Given the description of an element on the screen output the (x, y) to click on. 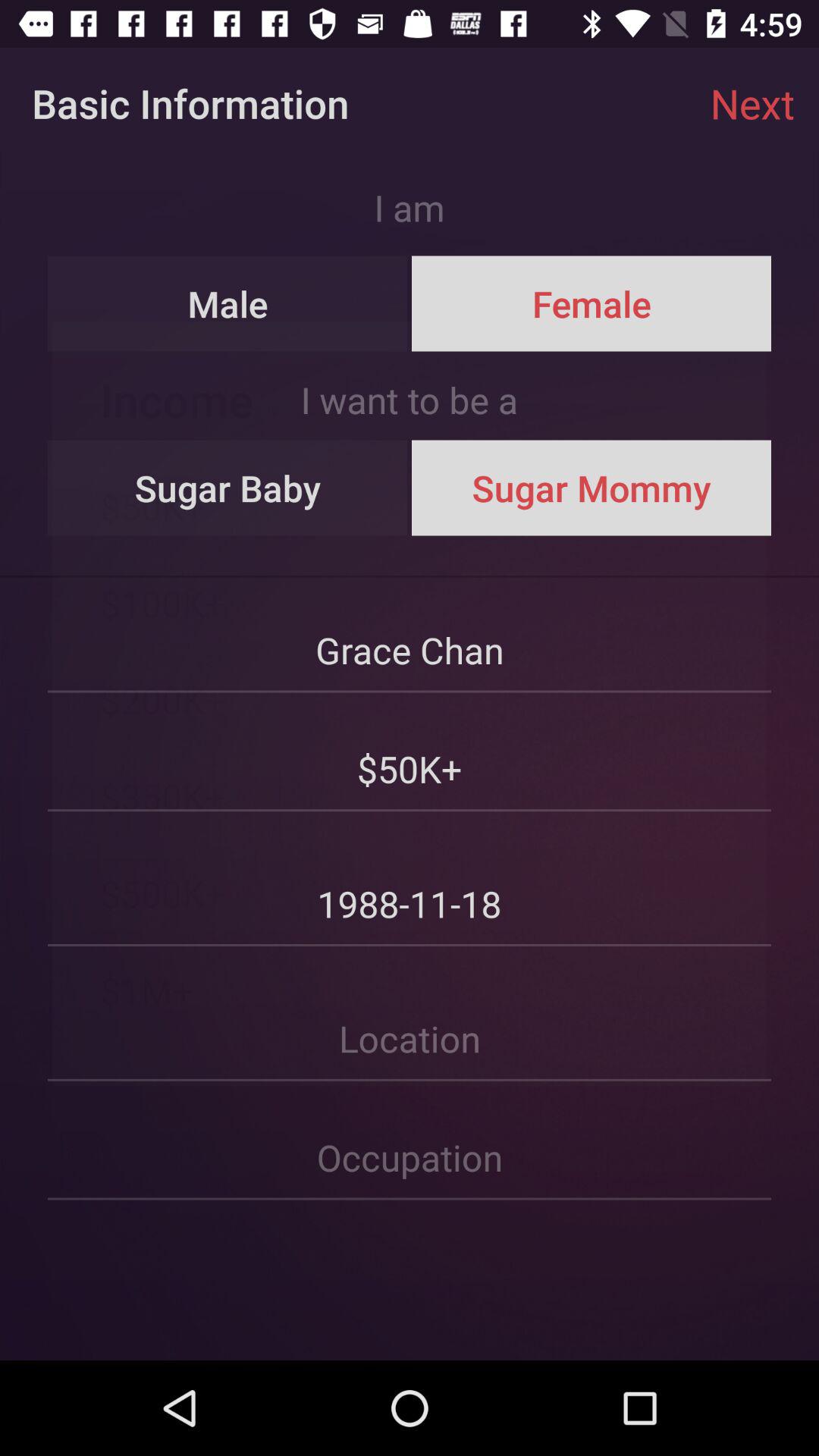
select the icon to the right of sugar baby item (591, 487)
